Given the description of an element on the screen output the (x, y) to click on. 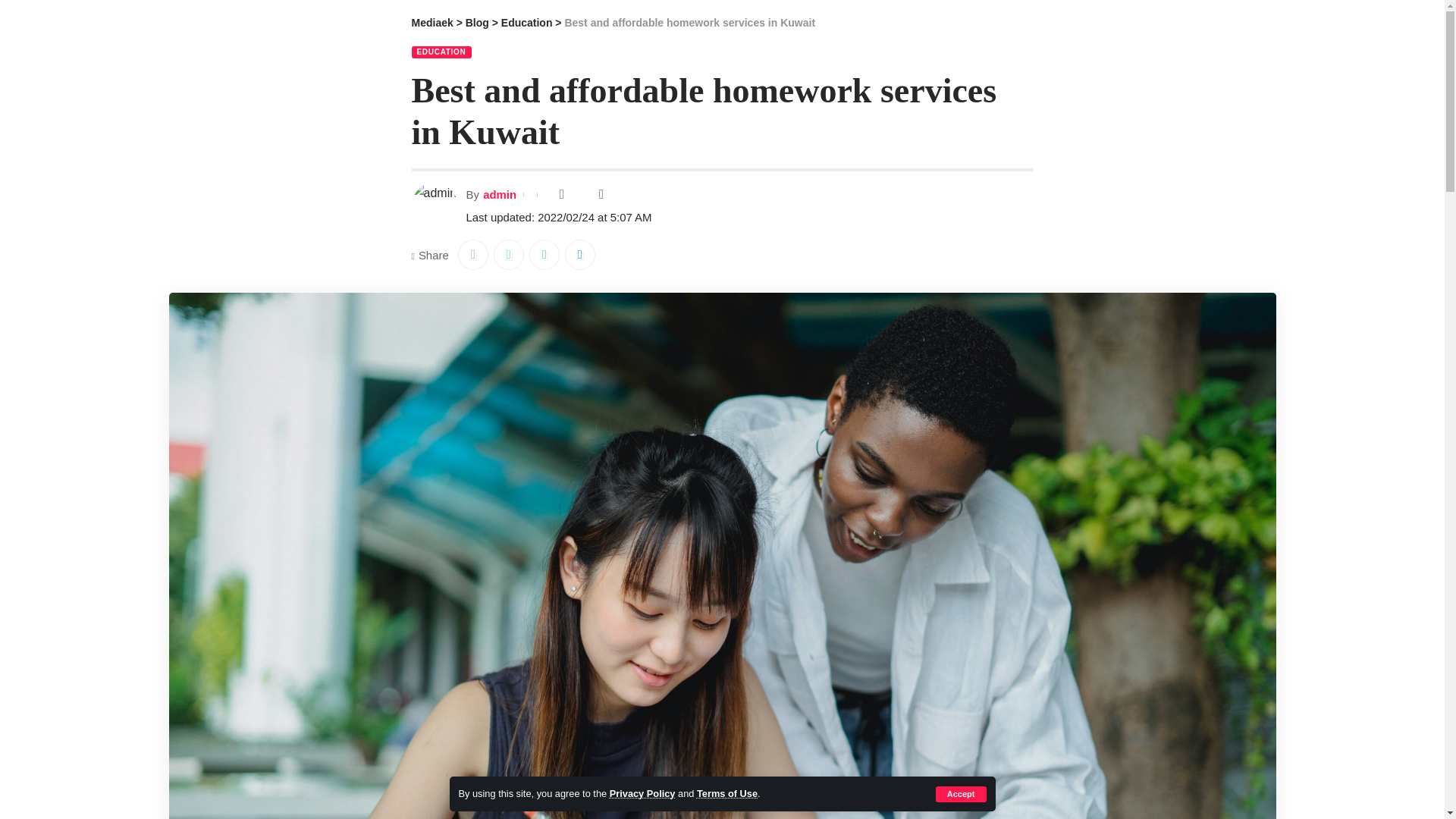
Accept (961, 794)
Go to the Education Category archives. (526, 22)
Go to Mediaek. (431, 22)
Go to Blog. (477, 22)
Privacy Policy (642, 793)
admin (499, 194)
EDUCATION (440, 51)
Mediaek (431, 22)
Education (526, 22)
Terms of Use (727, 793)
